Given the description of an element on the screen output the (x, y) to click on. 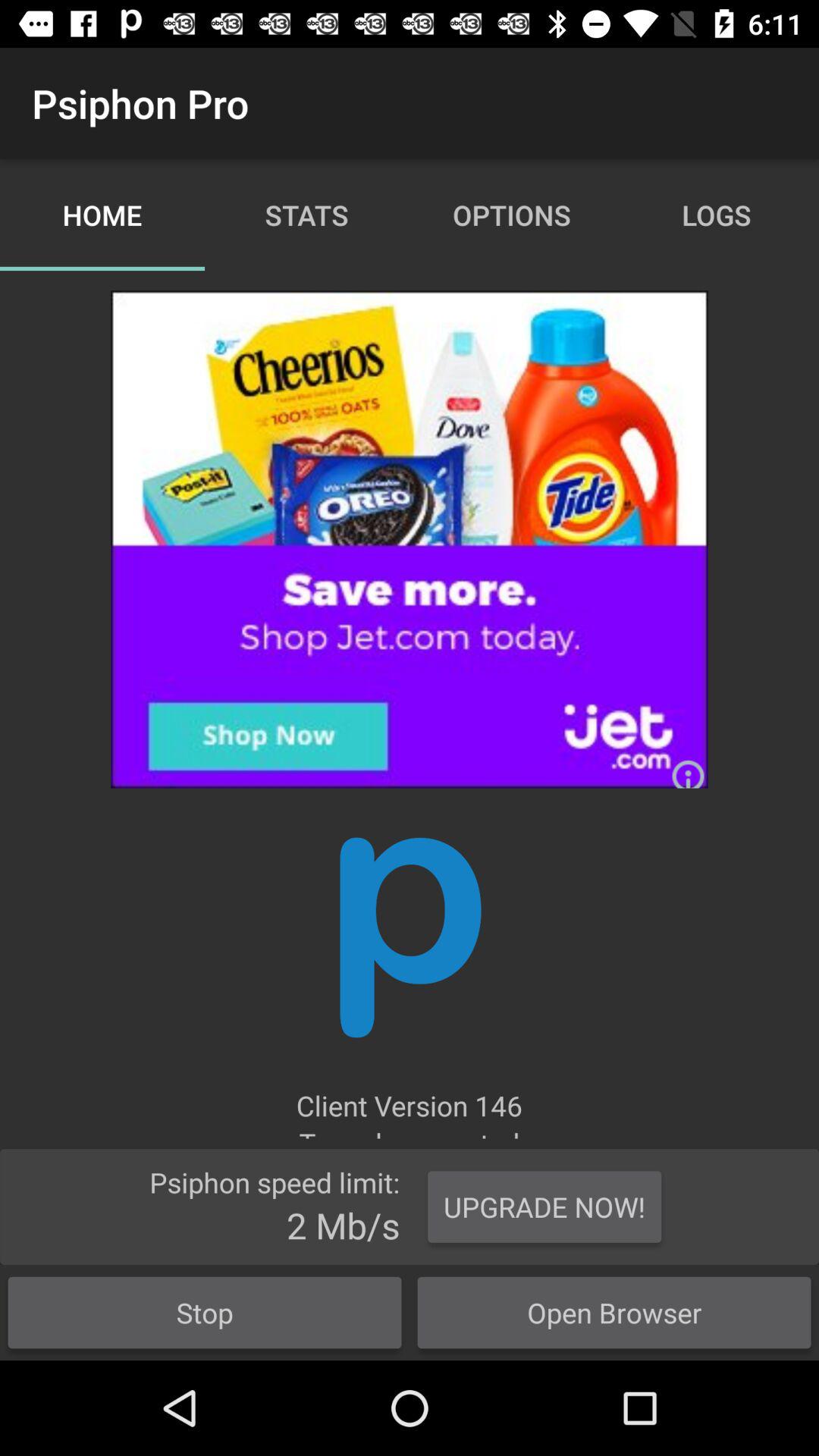
open advertisement (409, 539)
